Given the description of an element on the screen output the (x, y) to click on. 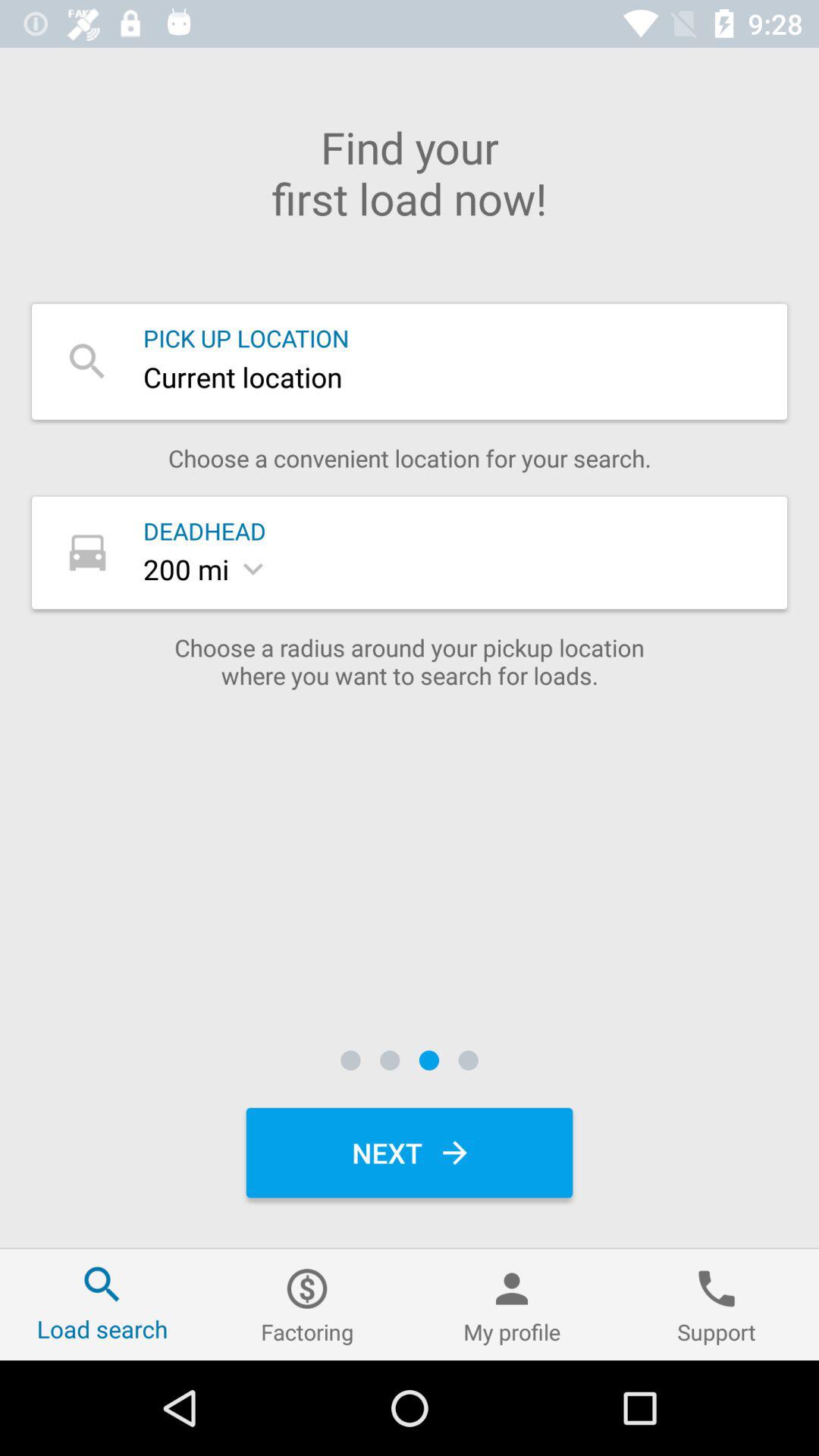
press the next (409, 1152)
